Given the description of an element on the screen output the (x, y) to click on. 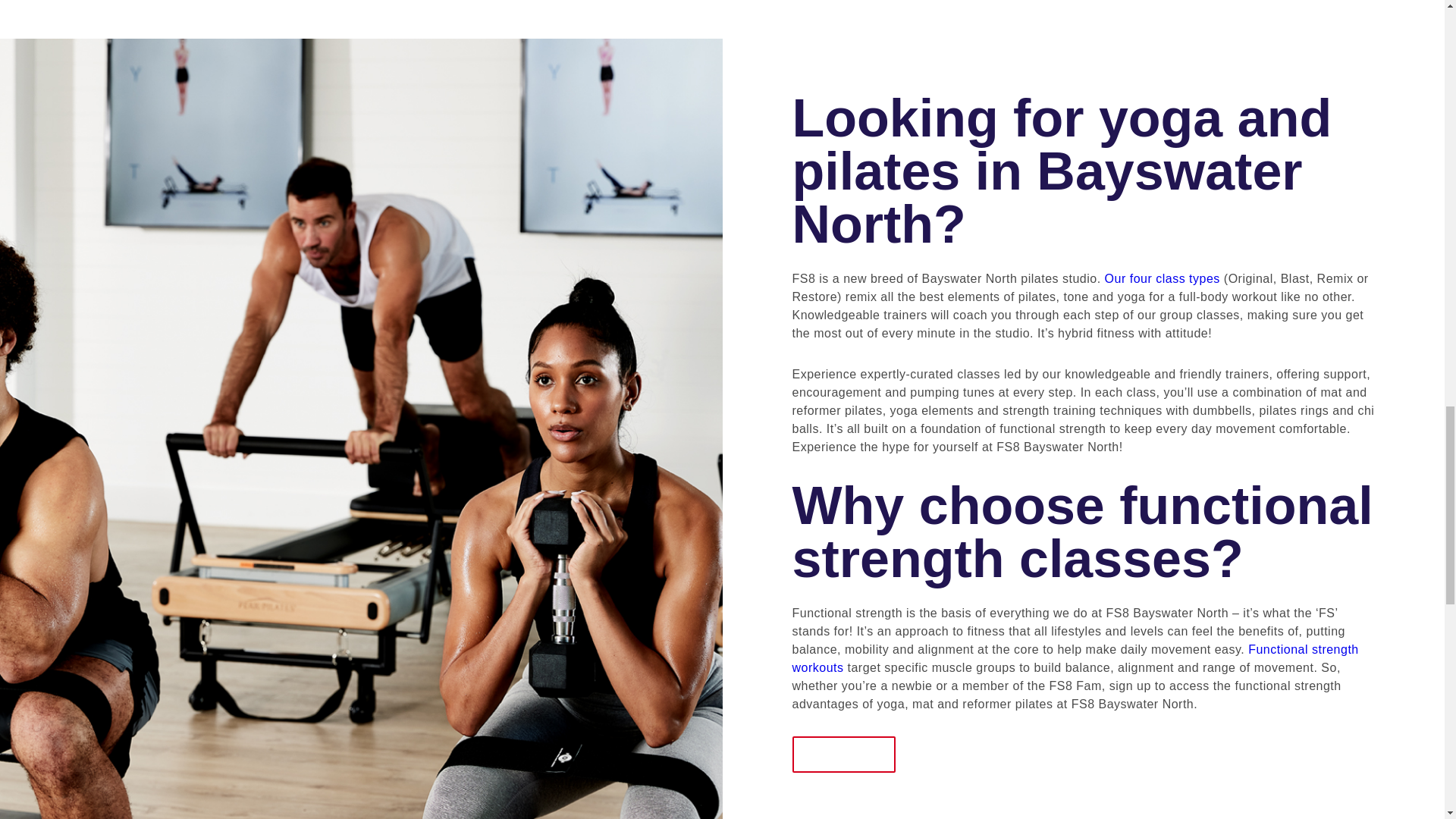
WHY FS8 (843, 754)
Our four class types (1162, 278)
Functional strength workouts (1075, 658)
